Given the description of an element on the screen output the (x, y) to click on. 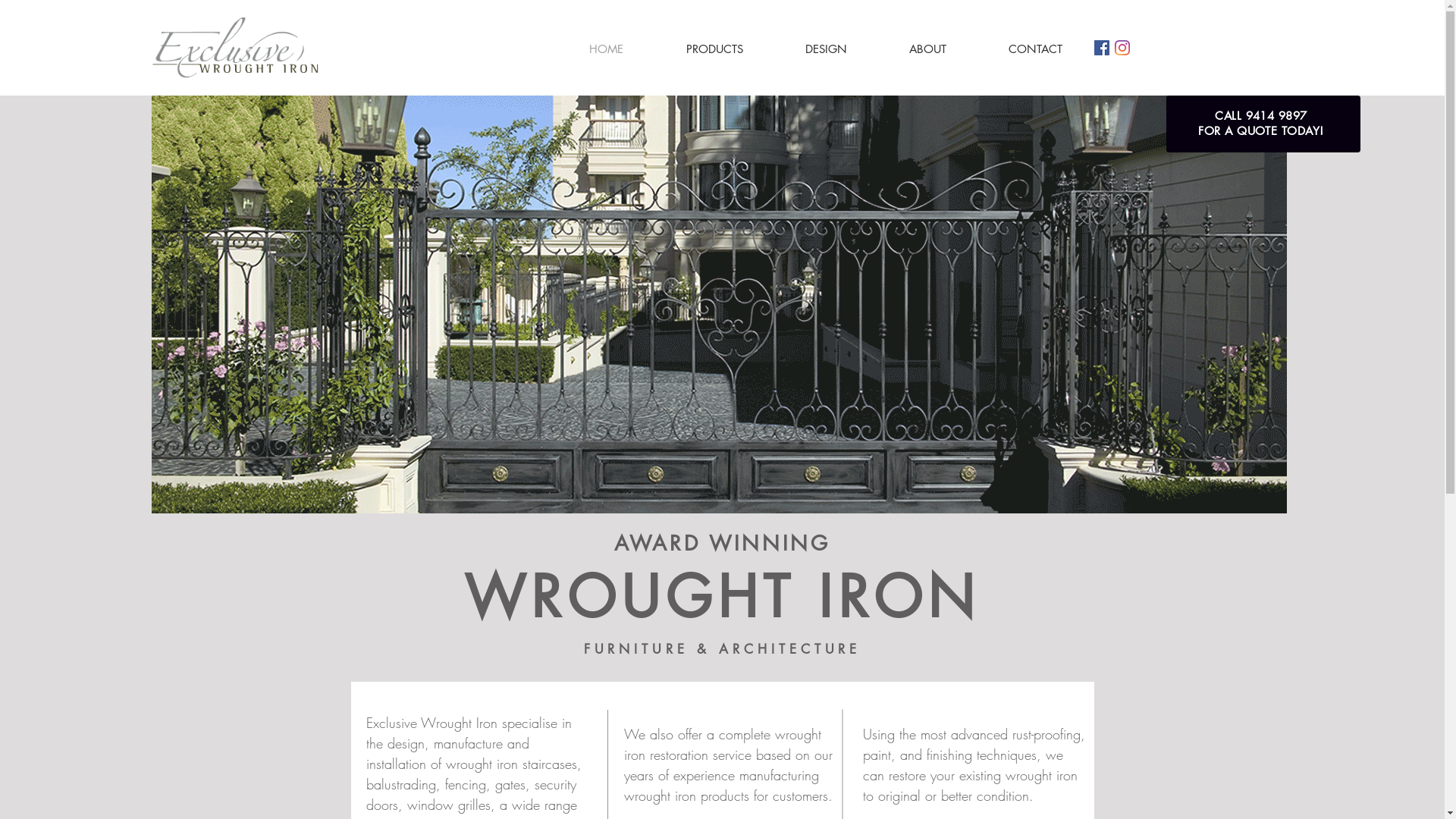
WROUGHT IRON Element type: text (722, 597)
CALL 9414 9897 Element type: text (1260, 115)
FOR A QUOTE TODAY! Element type: text (1260, 130)
CONTACT Element type: text (1034, 49)
DESIGN Element type: text (825, 49)
ABOUT Element type: text (927, 49)
HOME Element type: text (606, 49)
